Given the description of an element on the screen output the (x, y) to click on. 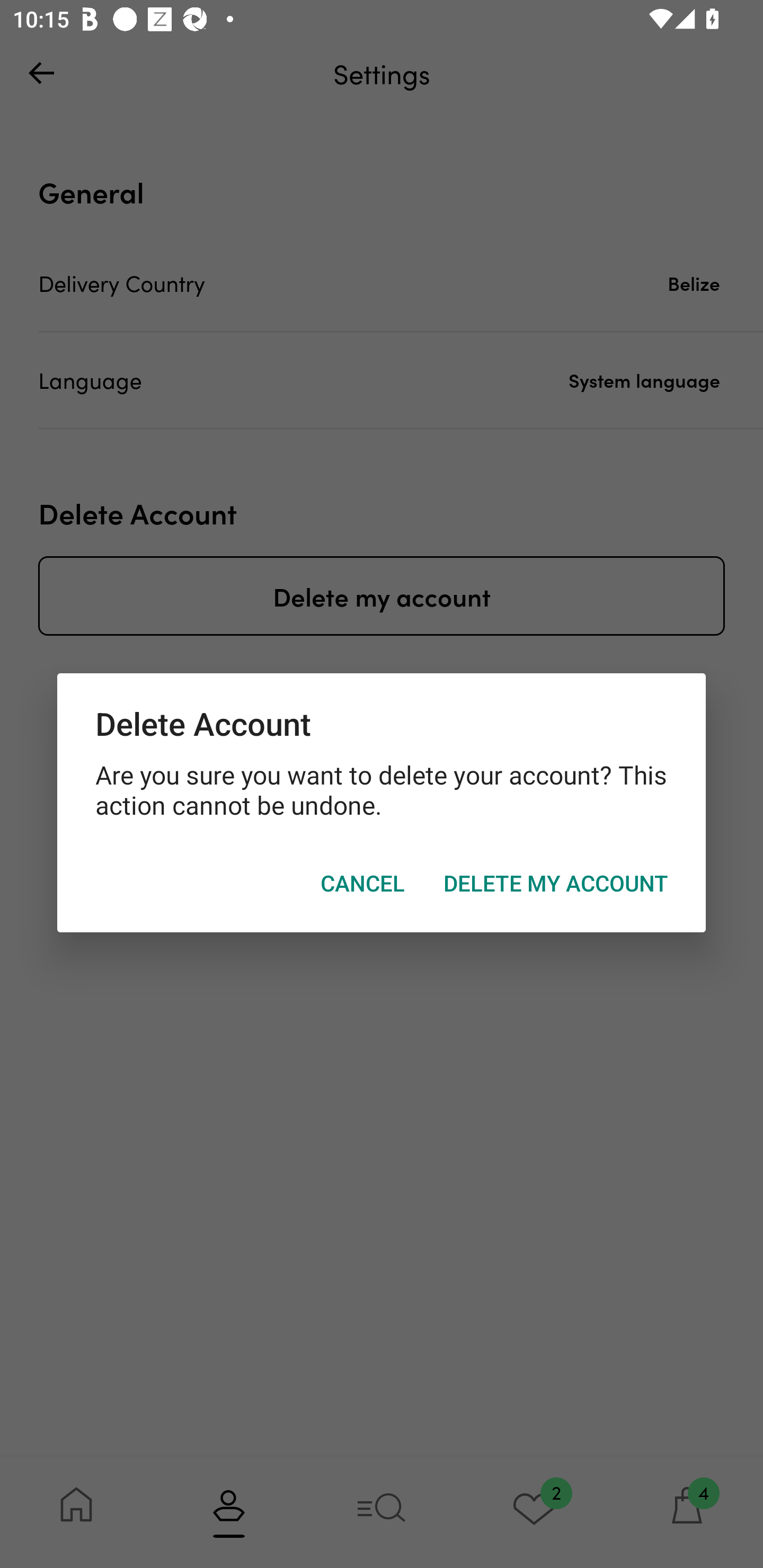
CANCEL (362, 883)
DELETE MY ACCOUNT (555, 883)
